Given the description of an element on the screen output the (x, y) to click on. 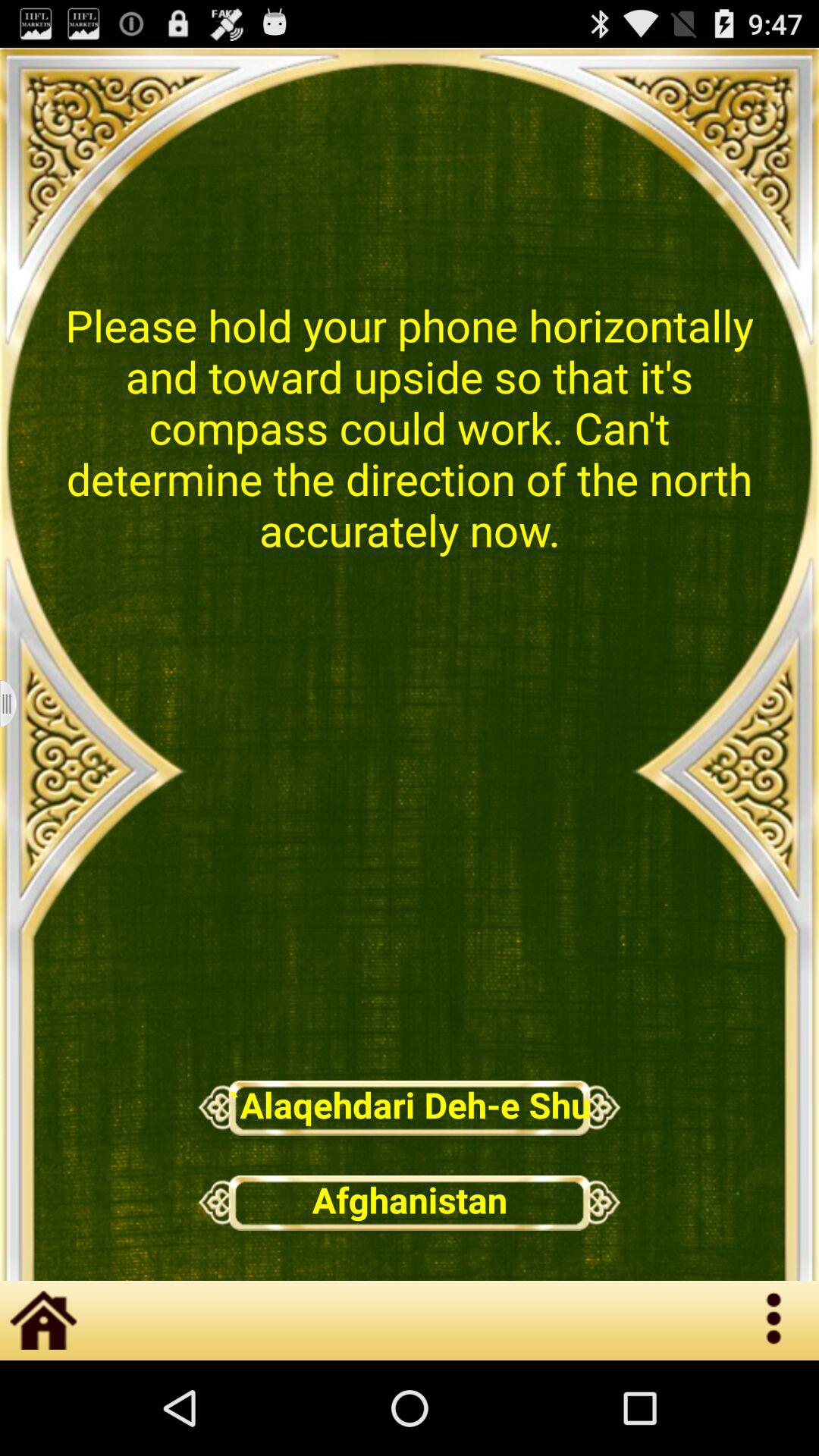
stop the app (18, 703)
